Given the description of an element on the screen output the (x, y) to click on. 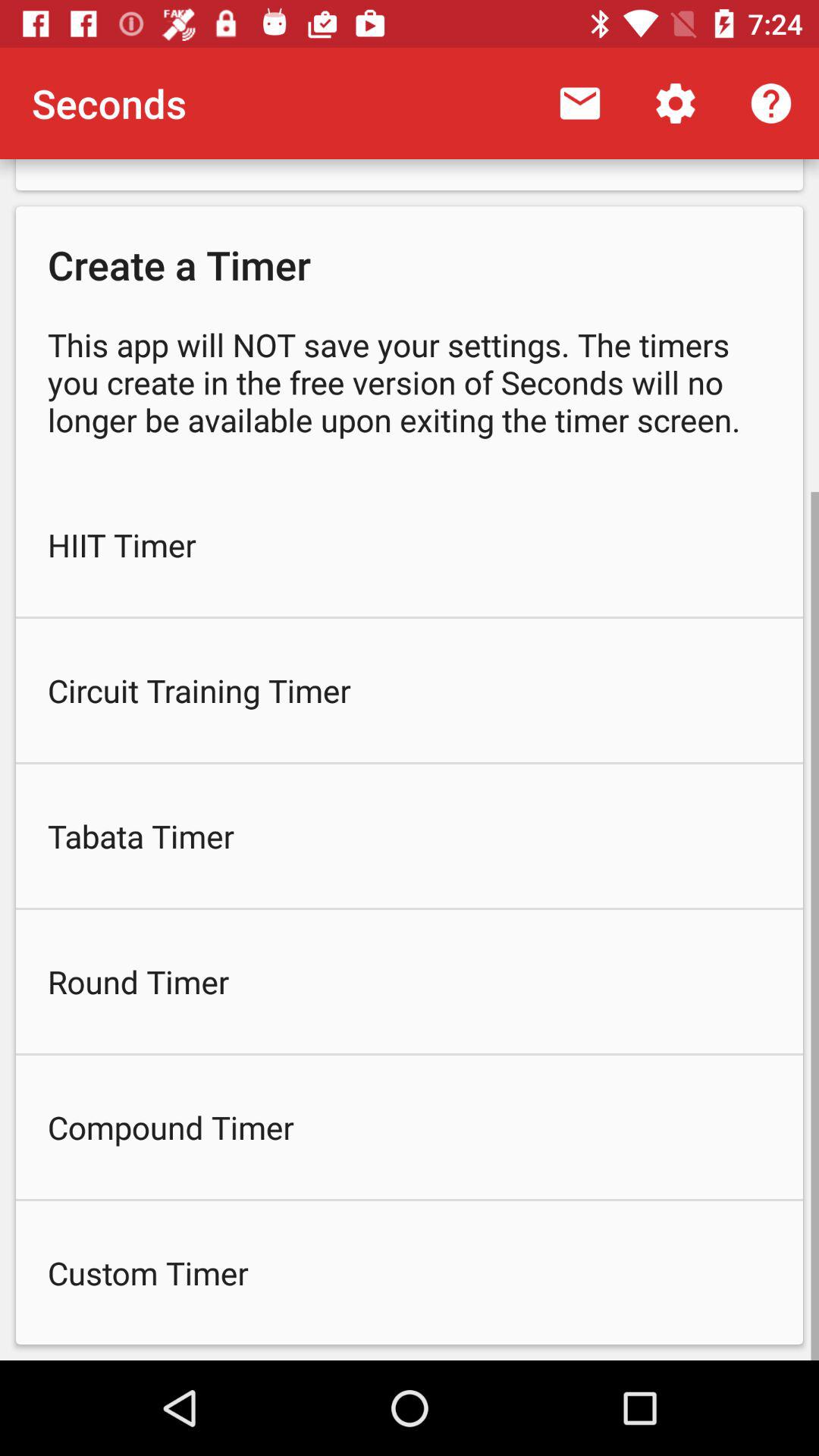
tap compound timer icon (409, 1126)
